Given the description of an element on the screen output the (x, y) to click on. 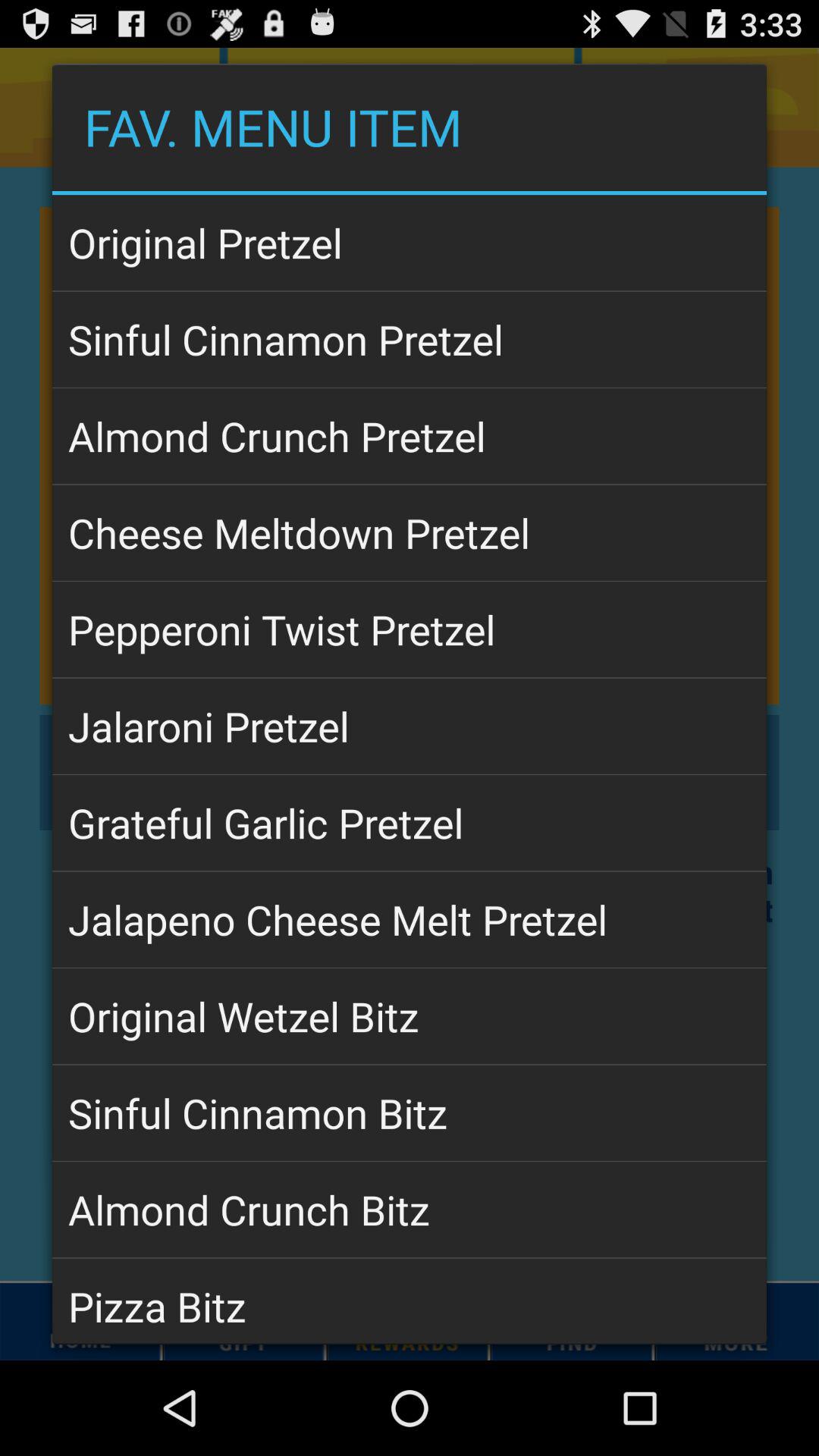
jump until the jalaroni pretzel app (409, 726)
